Given the description of an element on the screen output the (x, y) to click on. 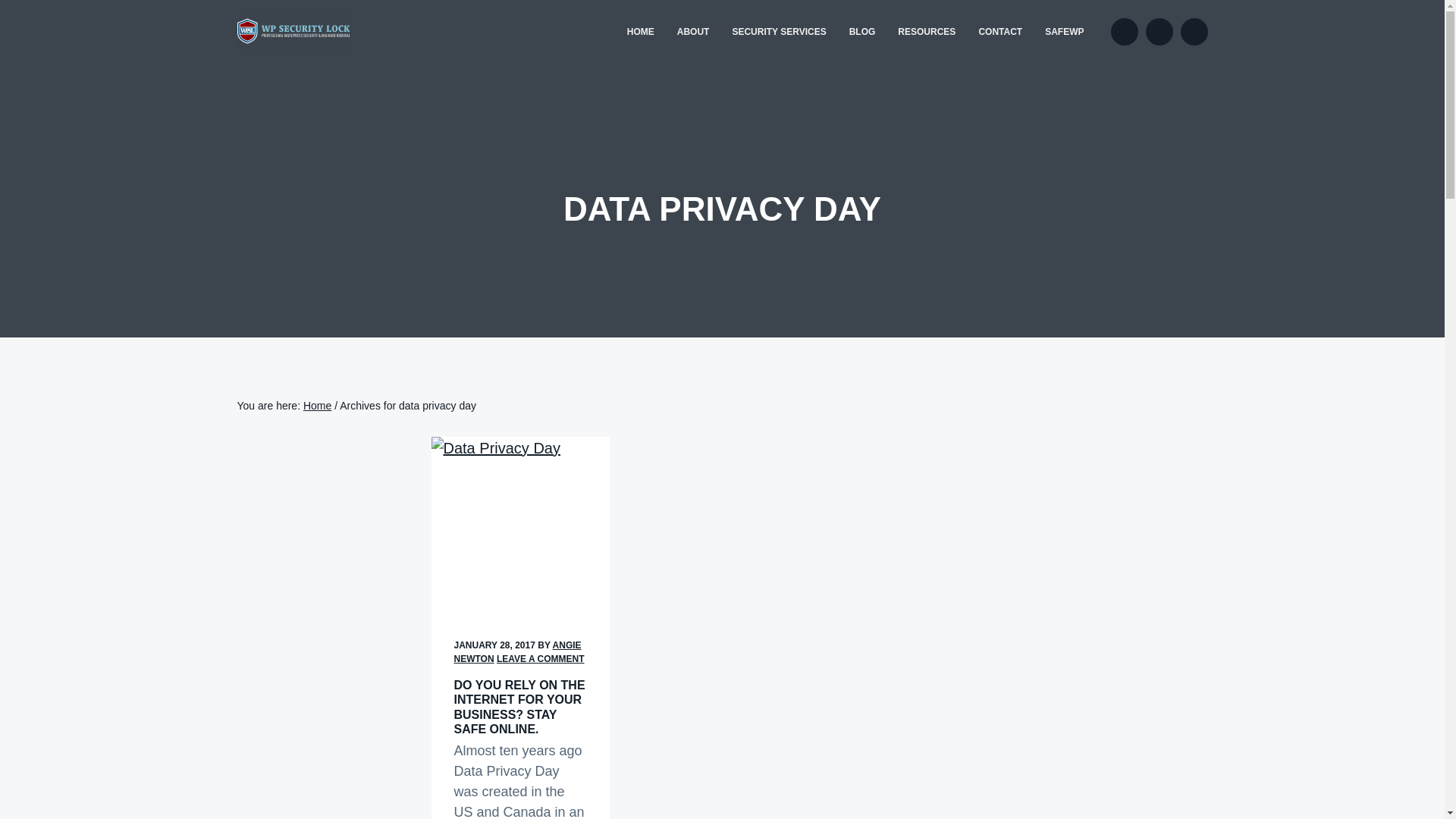
LEAVE A COMMENT (540, 658)
Home (316, 405)
ANGIE NEWTON (516, 651)
RESOURCES (926, 31)
CONTACT (999, 31)
SECURITY SERVICES (778, 31)
SAFEWP (1063, 31)
